Given the description of an element on the screen output the (x, y) to click on. 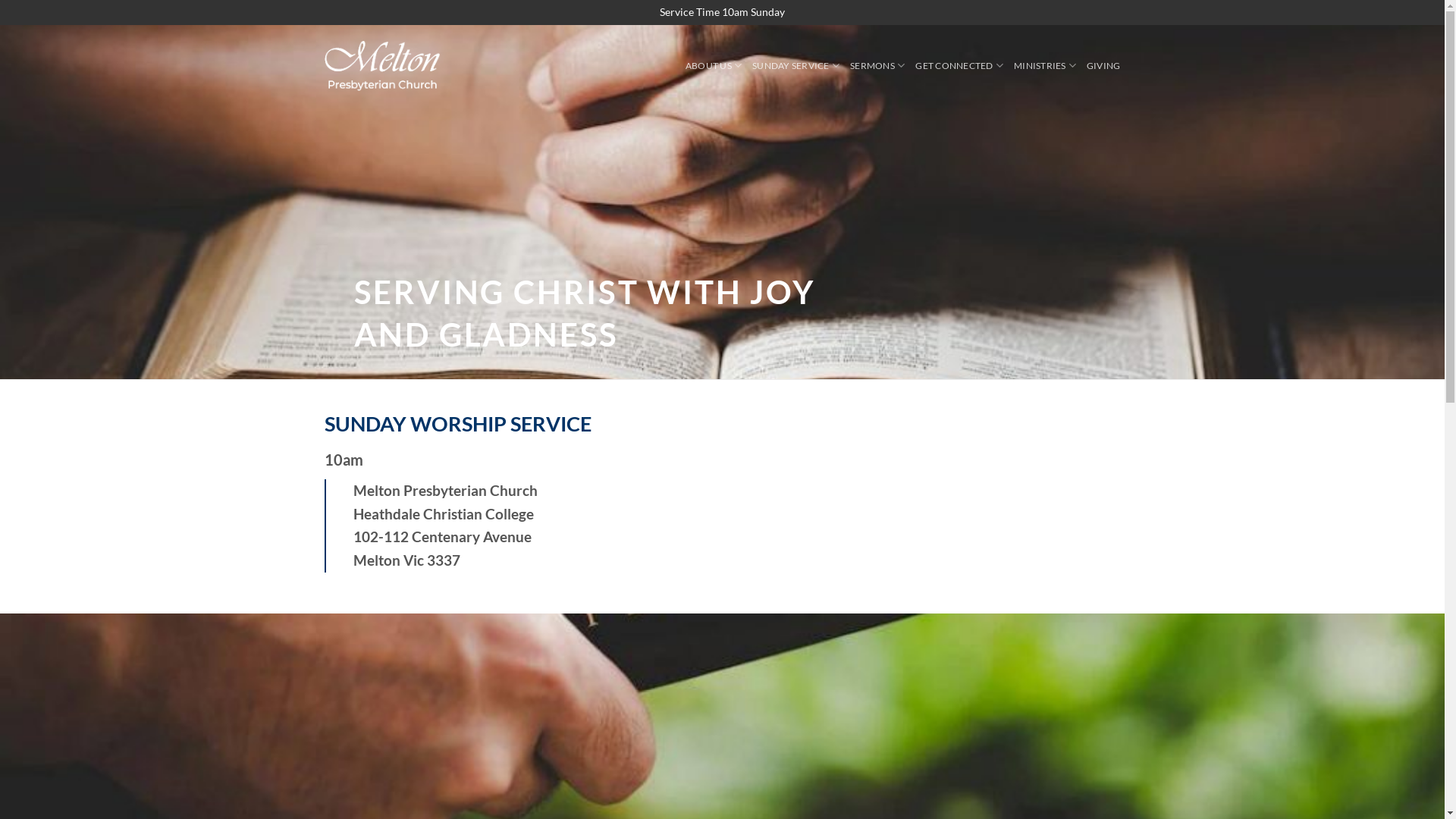
GIVING Element type: text (1103, 65)
SUNDAY SERVICE Element type: text (795, 65)
ABOUT US Element type: text (713, 65)
MINISTRIES Element type: text (1044, 65)
GET CONNECTED Element type: text (959, 65)
SERMONS Element type: text (877, 65)
